Given the description of an element on the screen output the (x, y) to click on. 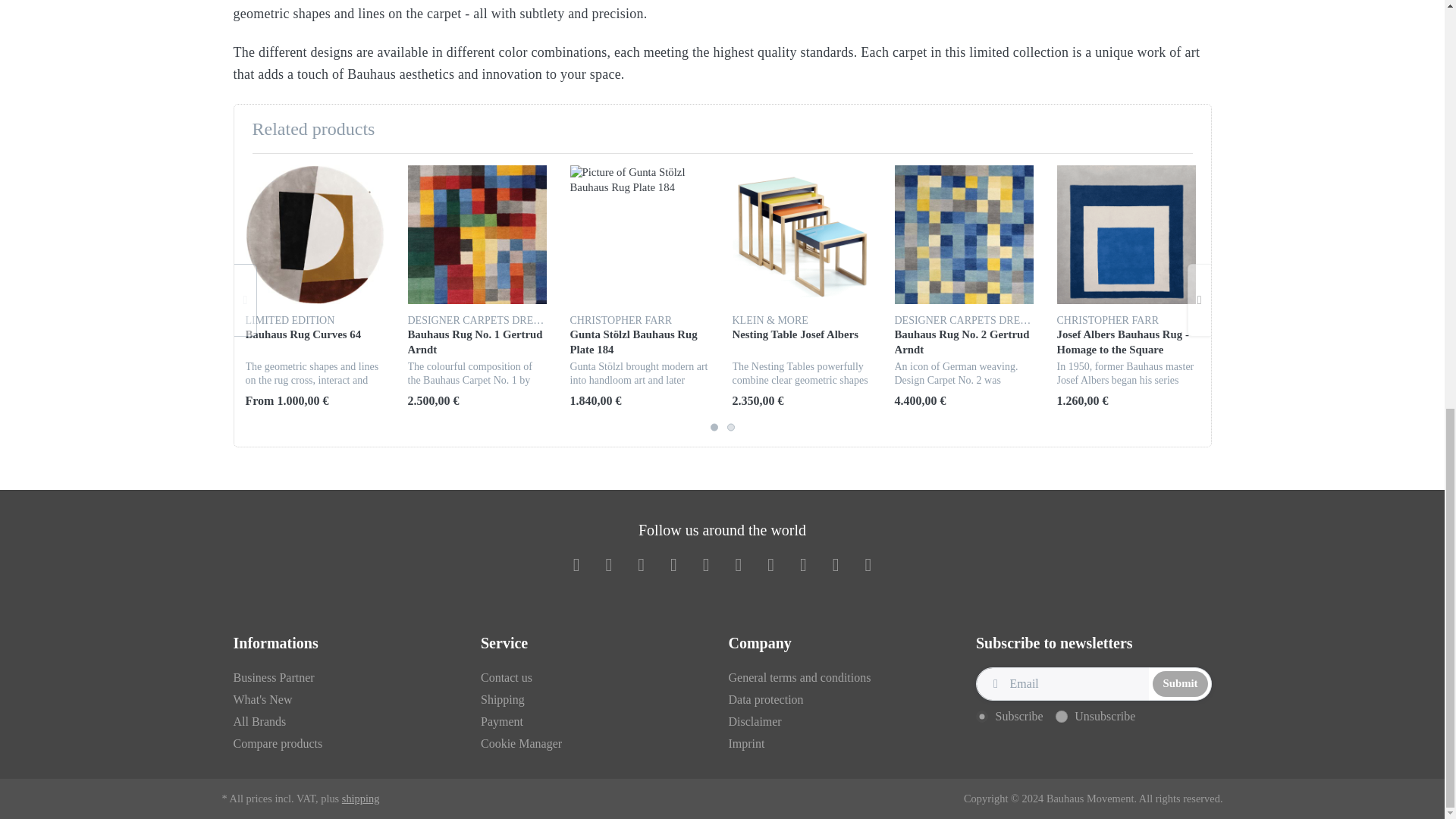
newsletter-unsubscribe (1061, 716)
newsletter-subscribe (981, 716)
